Given the description of an element on the screen output the (x, y) to click on. 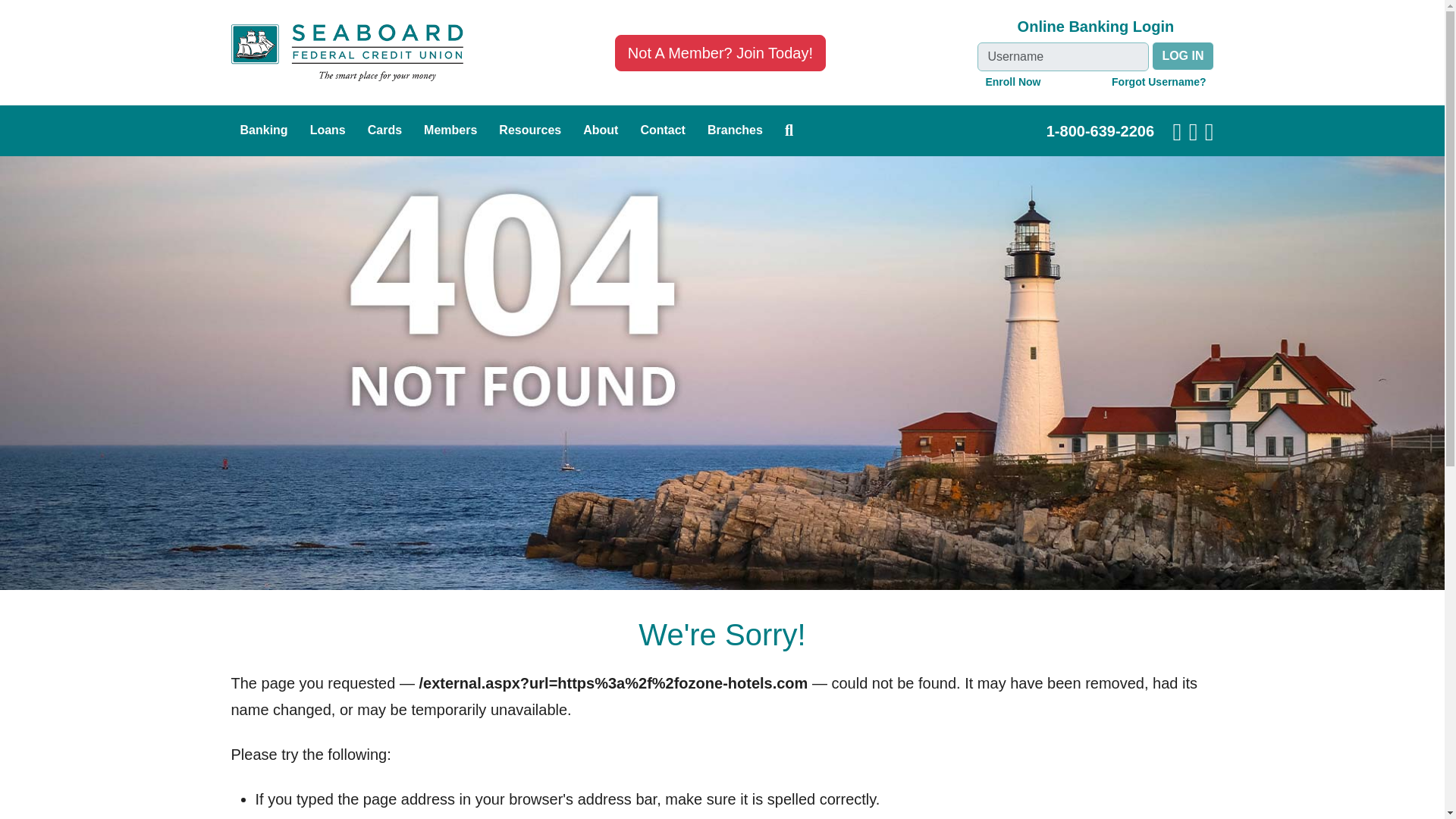
Cards (384, 130)
1-800-639-2206 (1100, 130)
Resources (529, 130)
Members (450, 130)
Forgot Username? (1158, 81)
LOG IN (1181, 55)
Loans (328, 130)
Not A Member? Join Today! (719, 53)
Enroll Now (1013, 81)
Banking (263, 130)
